Given the description of an element on the screen output the (x, y) to click on. 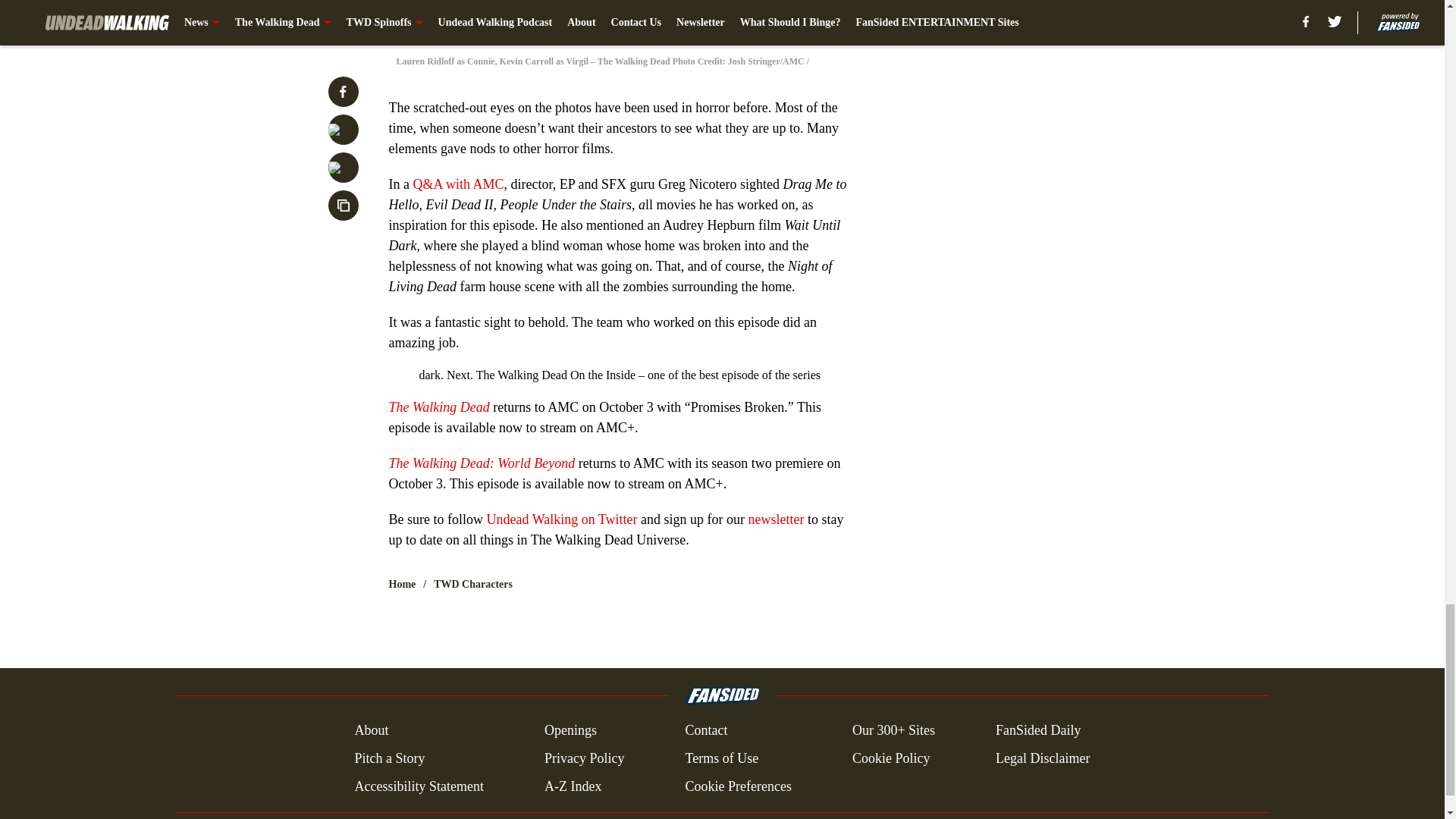
The Walking Dead: World Beyond (481, 462)
Undead Walking on Twitter (561, 519)
newsletter (776, 519)
The Walking Dead (438, 406)
Openings (570, 729)
TWD Characters (472, 584)
Home (401, 584)
About (370, 729)
